Given the description of an element on the screen output the (x, y) to click on. 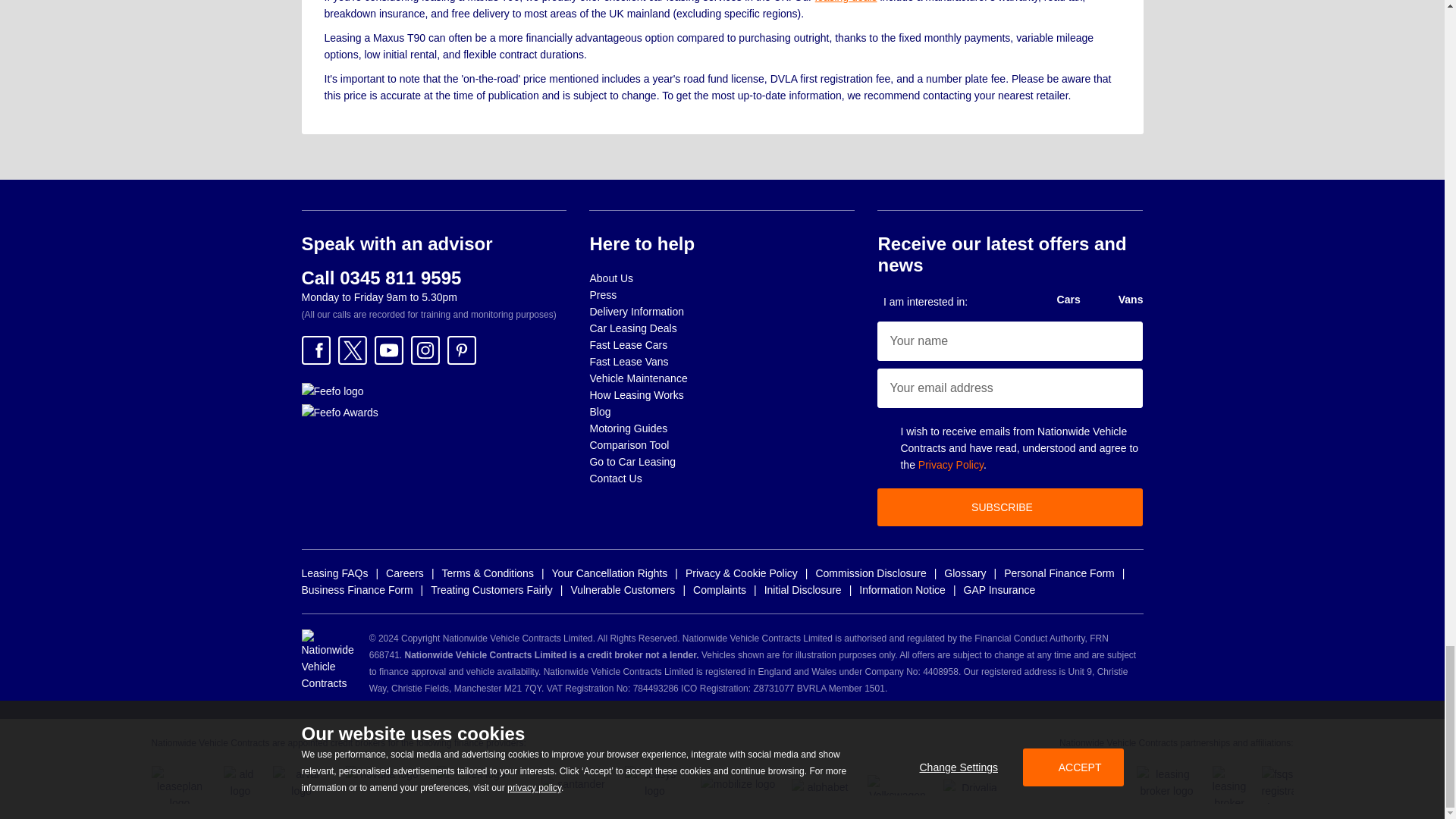
Privacy Policy (951, 464)
Our customer Feefo rating (332, 391)
Feefo Platinum Trusted Service Award 2024 (339, 412)
